Given the description of an element on the screen output the (x, y) to click on. 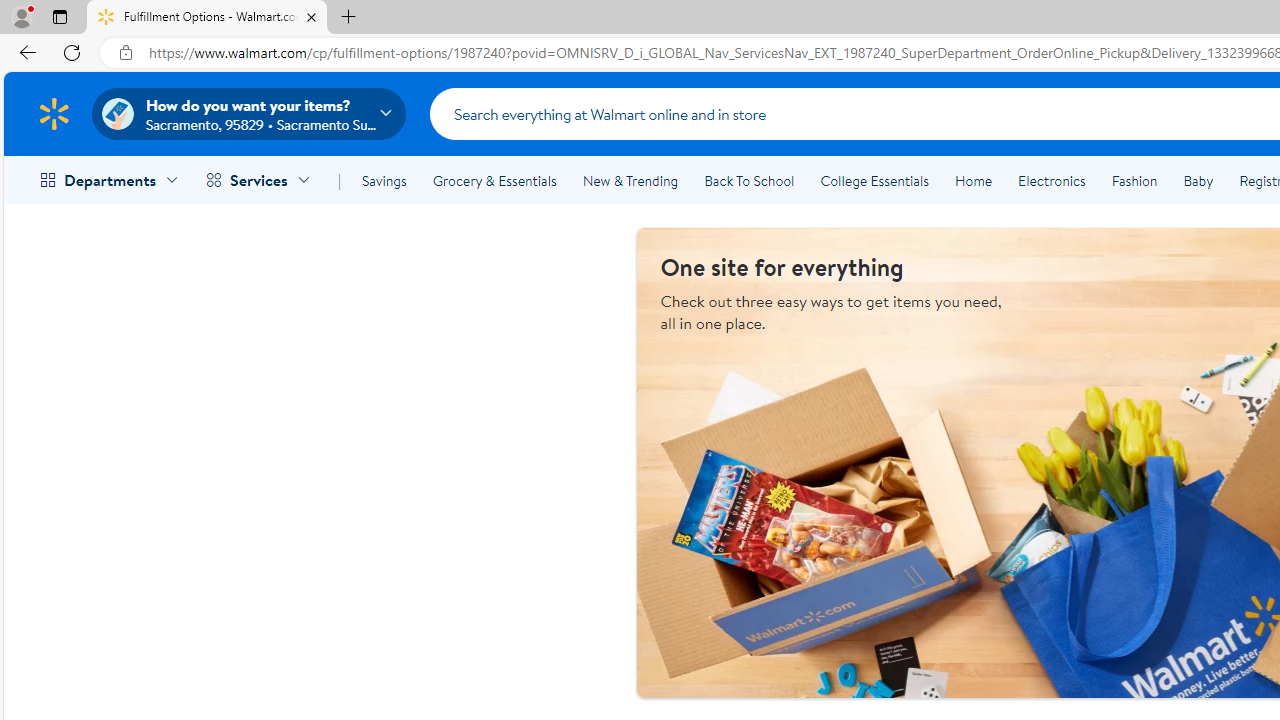
Baby (1197, 180)
Fashion (1134, 180)
New & Trending (630, 180)
Walmart Homepage (53, 113)
Electronics (1051, 180)
Baby (1197, 180)
College Essentials (874, 180)
Fulfillment Options - Walmart.com (207, 17)
